Given the description of an element on the screen output the (x, y) to click on. 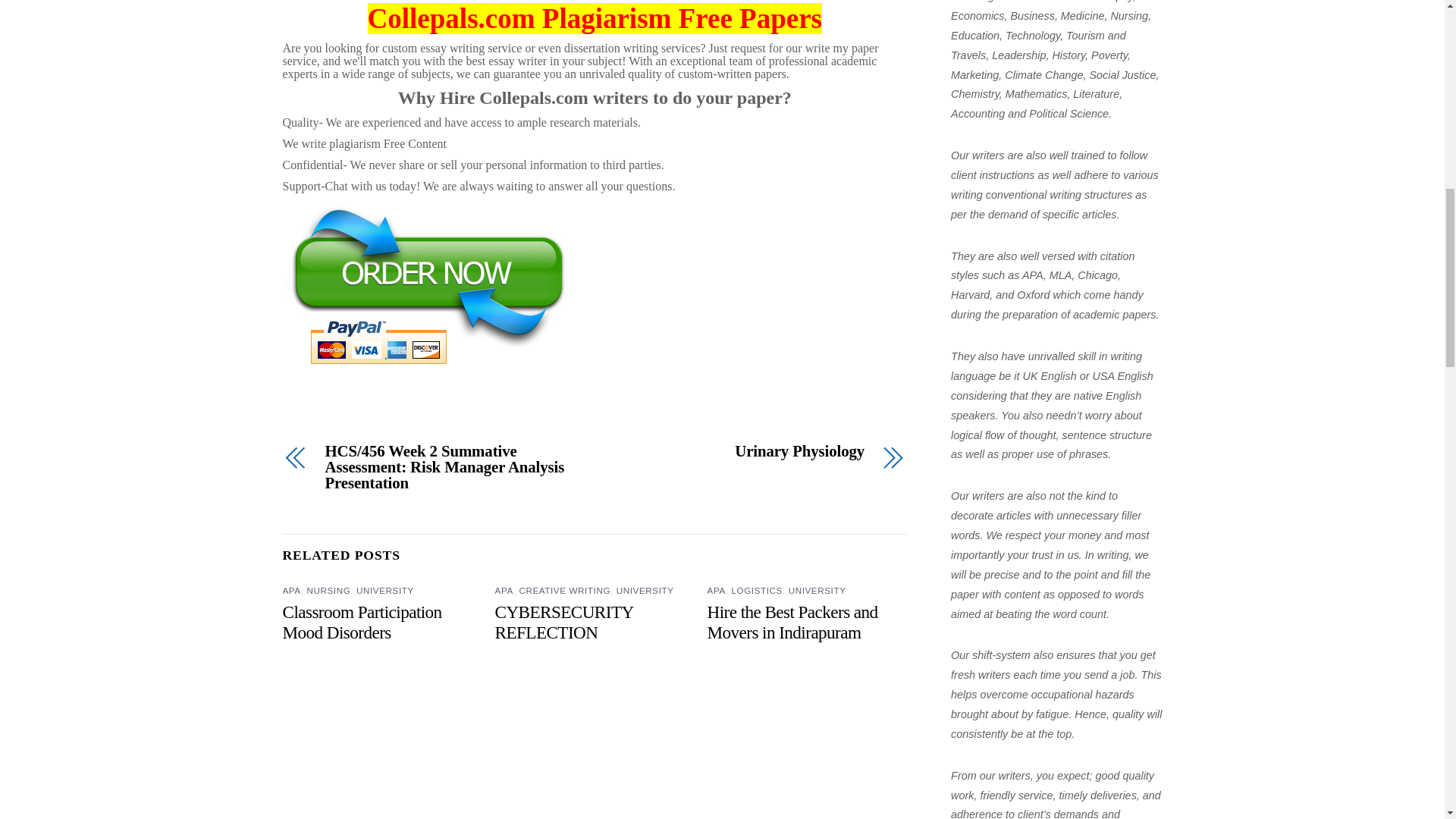
Urinary Physiology (738, 451)
LOGISTICS (756, 590)
Hire the Best Packers and Movers in Indirapuram (792, 621)
Collepals.com Plagiarism Free Papers (595, 18)
APA (716, 590)
CYBERSECURITY REFLECTION (564, 621)
UNIVERSITY (644, 590)
CYBERSECURITY REFLECTION (564, 621)
Classroom Participation Mood Disorders (361, 621)
CREATIVE WRITING (564, 590)
